Given the description of an element on the screen output the (x, y) to click on. 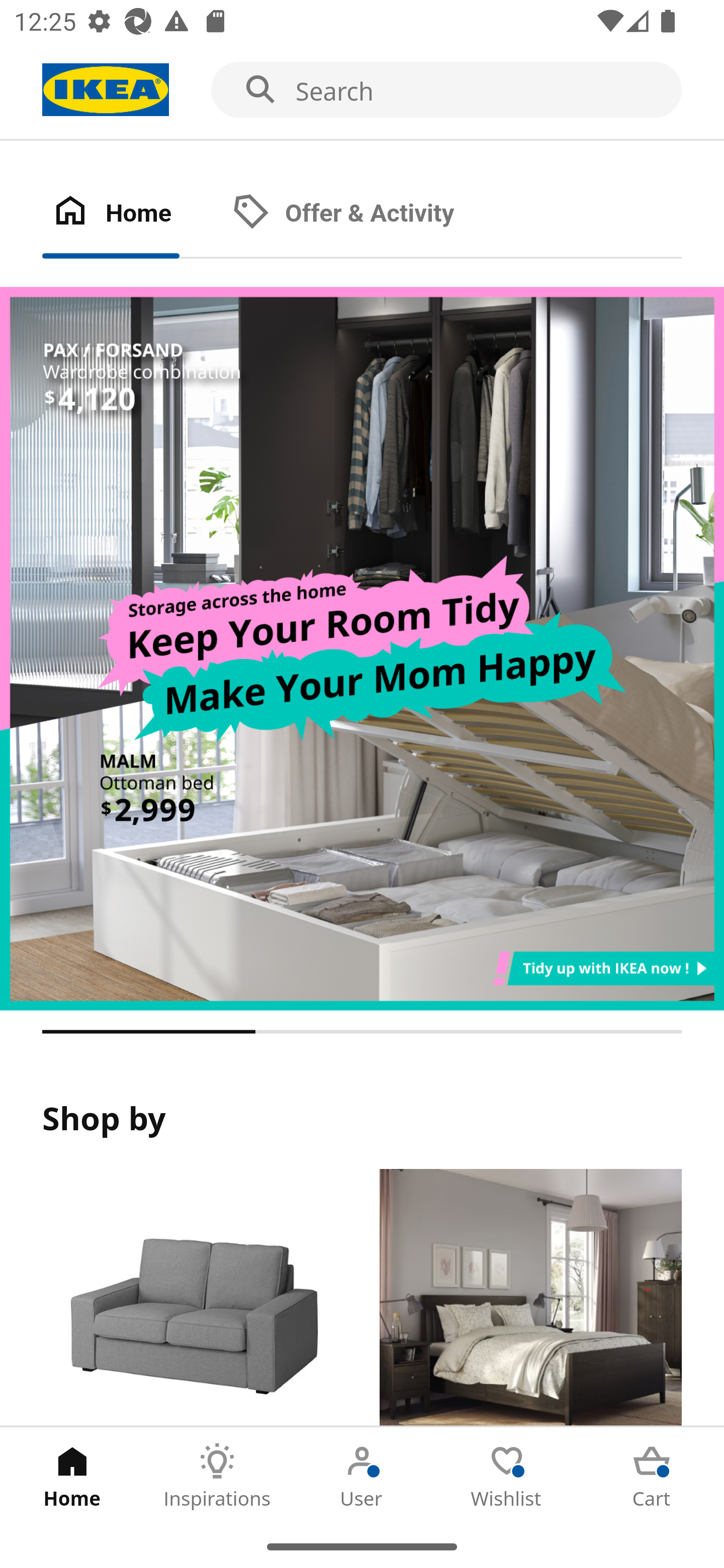
Search (361, 90)
Home
Tab 1 of 2 (131, 213)
Offer & Activity
Tab 2 of 2 (363, 213)
Products (192, 1297)
Rooms (530, 1297)
Home
Tab 1 of 5 (72, 1476)
Inspirations
Tab 2 of 5 (216, 1476)
User
Tab 3 of 5 (361, 1476)
Wishlist
Tab 4 of 5 (506, 1476)
Cart
Tab 5 of 5 (651, 1476)
